Given the description of an element on the screen output the (x, y) to click on. 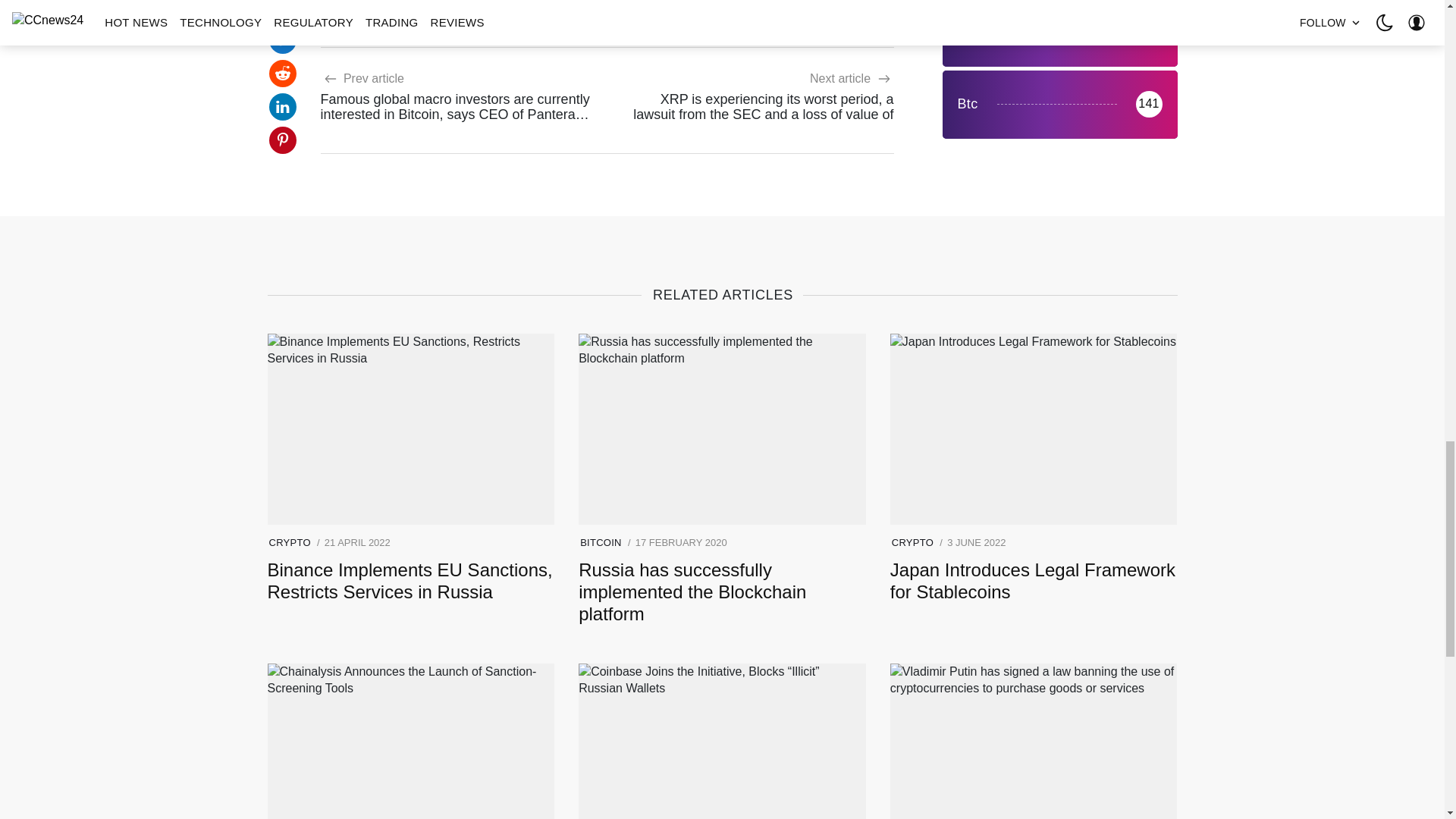
Russia (431, 5)
stablecoins (515, 5)
Stablecoins (515, 5)
Russia (431, 5)
Aksakov (356, 5)
Aksakov (356, 5)
